Given the description of an element on the screen output the (x, y) to click on. 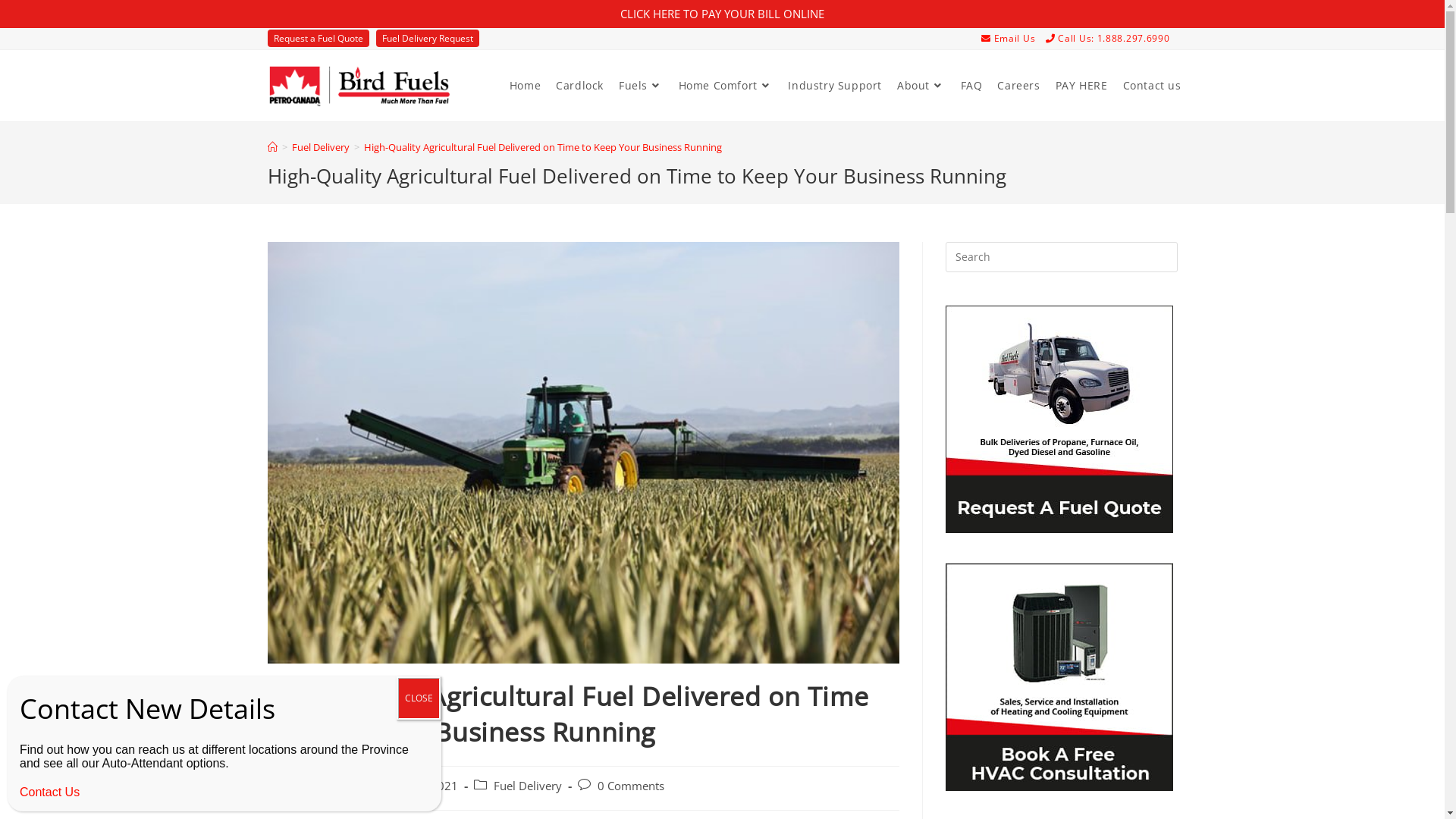
Cardlock Element type: text (579, 85)
Email Us Element type: text (1011, 37)
FAQ Element type: text (971, 85)
0 Comments Element type: text (630, 785)
Industry Support Element type: text (834, 85)
Contact us Element type: text (1151, 85)
About Element type: text (921, 85)
Call Us: 1.888.297.6990 Element type: text (1111, 37)
Home Element type: text (525, 85)
Contact Us Element type: text (49, 791)
Bird Fuels Element type: text (312, 785)
Fuel Delivery Element type: text (526, 785)
PAY HERE Element type: text (1081, 85)
Fuel Delivery Element type: text (319, 146)
Careers Element type: text (1018, 85)
CLOSE Element type: text (417, 698)
Fuel Delivery Request Element type: text (427, 38)
Request a Fuel Quote Element type: text (317, 38)
Fuels Element type: text (641, 85)
CLICK HERE TO PAY YOUR BILL ONLINE Element type: text (722, 13)
Home Comfort Element type: text (726, 85)
